Given the description of an element on the screen output the (x, y) to click on. 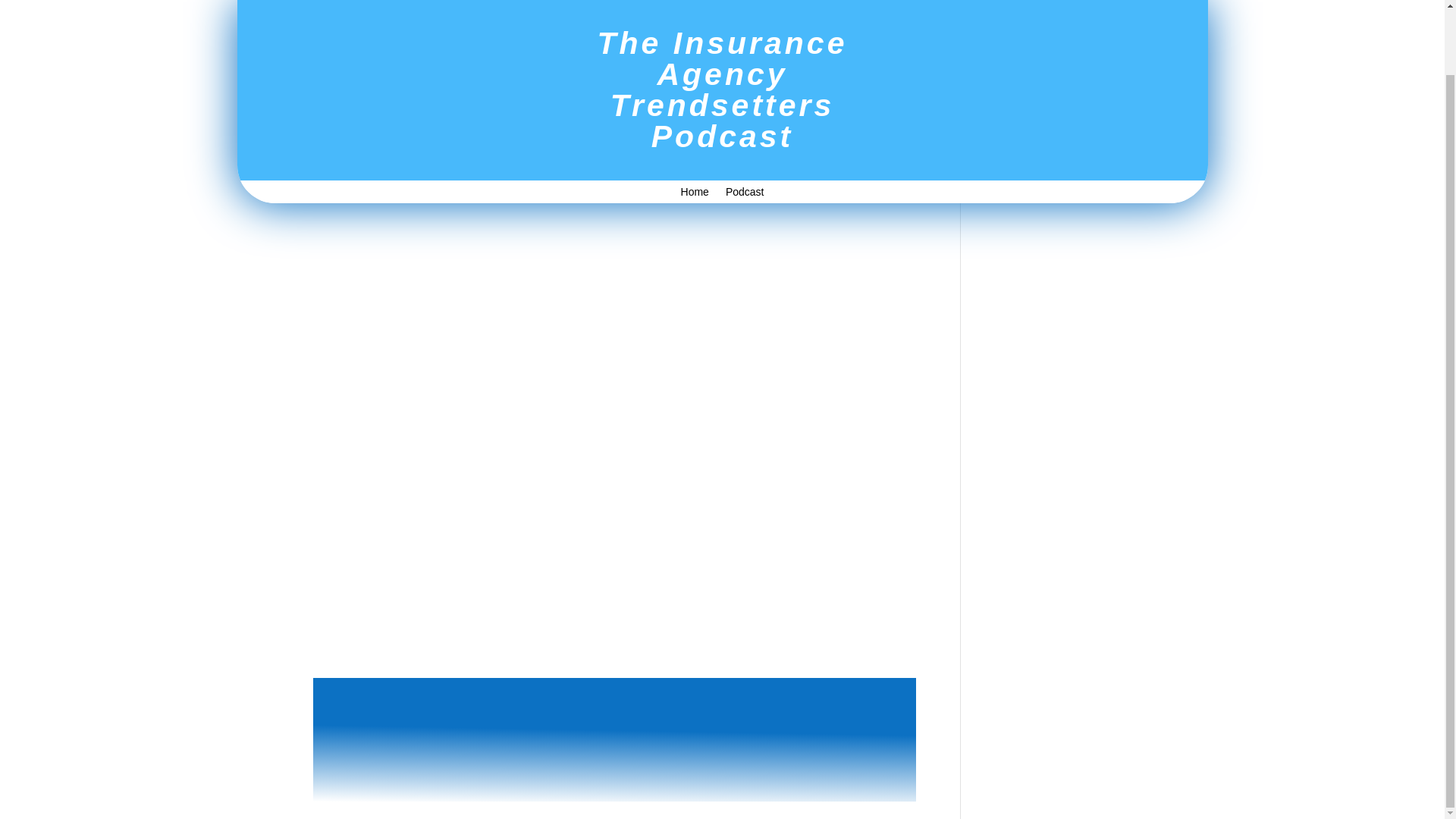
Podcast (551, 33)
Podcast (744, 123)
Home (695, 123)
